Given the description of an element on the screen output the (x, y) to click on. 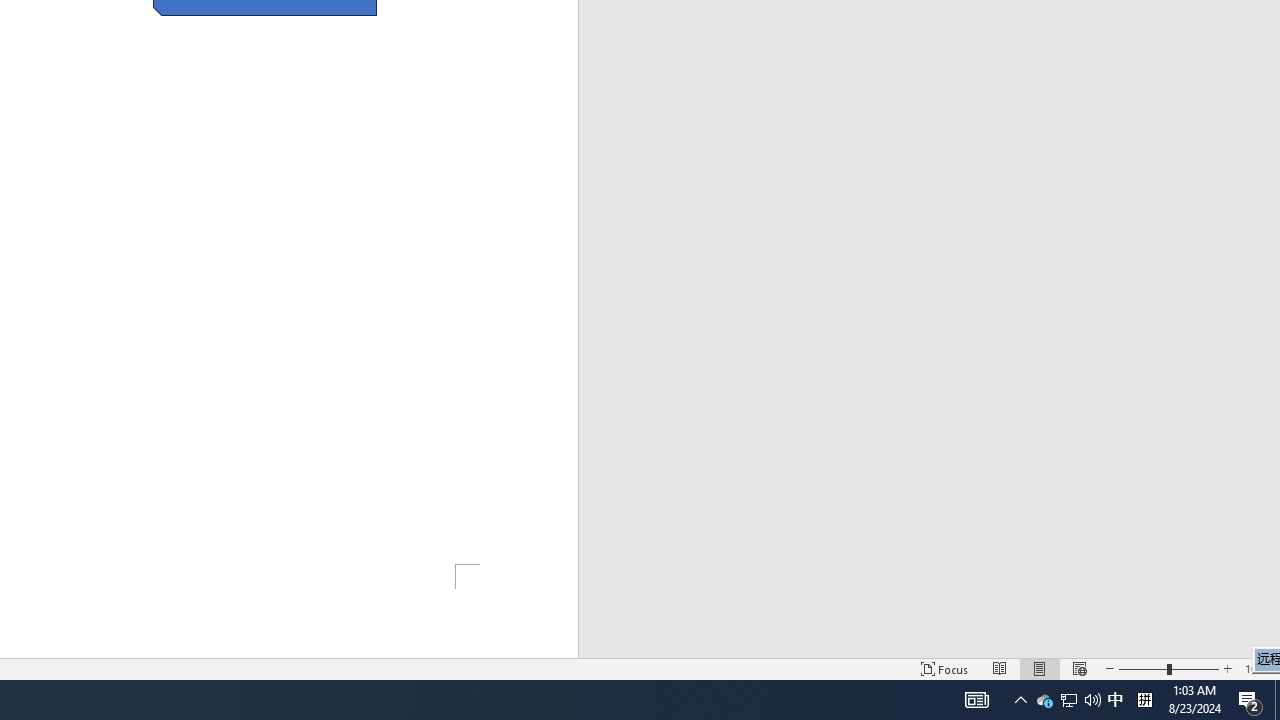
Zoom (1168, 668)
Zoom 104% (1258, 668)
